Given the description of an element on the screen output the (x, y) to click on. 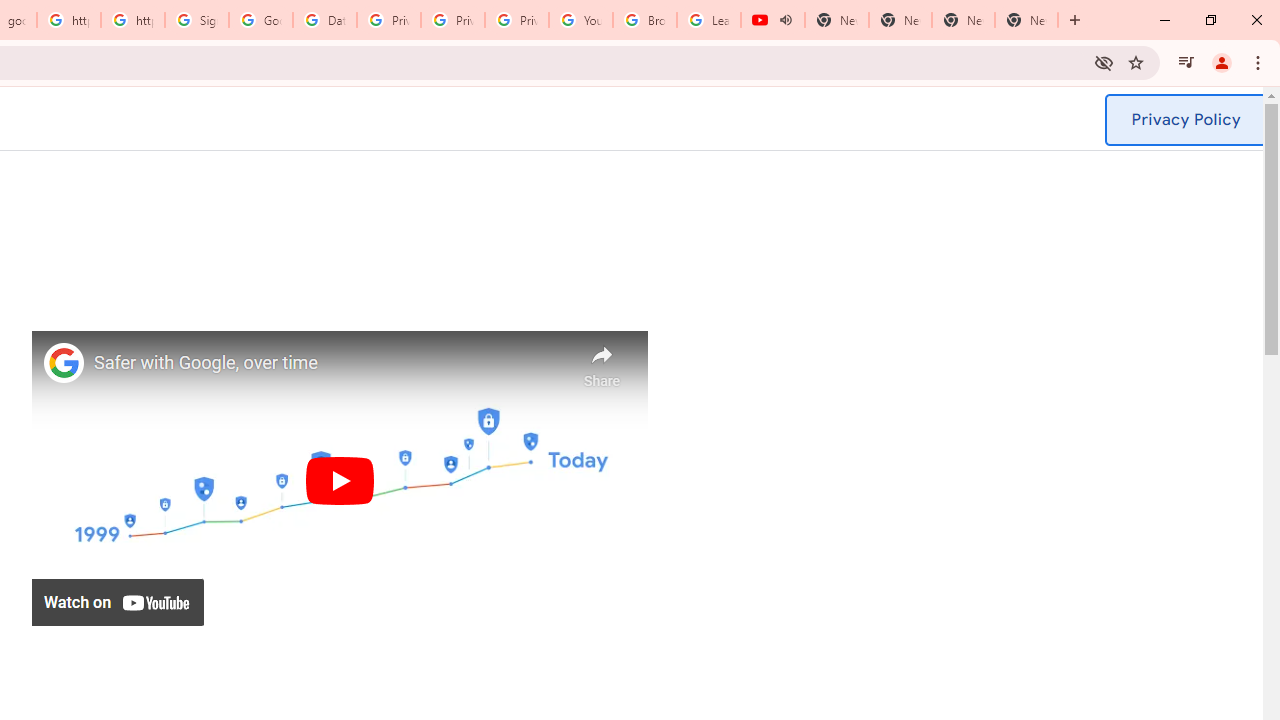
Restore (1210, 20)
Privacy Help Center - Policies Help (389, 20)
Play (339, 480)
Safer with Google, over time (330, 363)
Minimize (1165, 20)
YouTube (581, 20)
Chrome (1260, 62)
Photo image of Google (63, 362)
Privacy Help Center - Policies Help (453, 20)
Close (1256, 20)
New Tab (1075, 20)
Sign in - Google Accounts (197, 20)
Third-party cookies blocked (1103, 62)
